Given the description of an element on the screen output the (x, y) to click on. 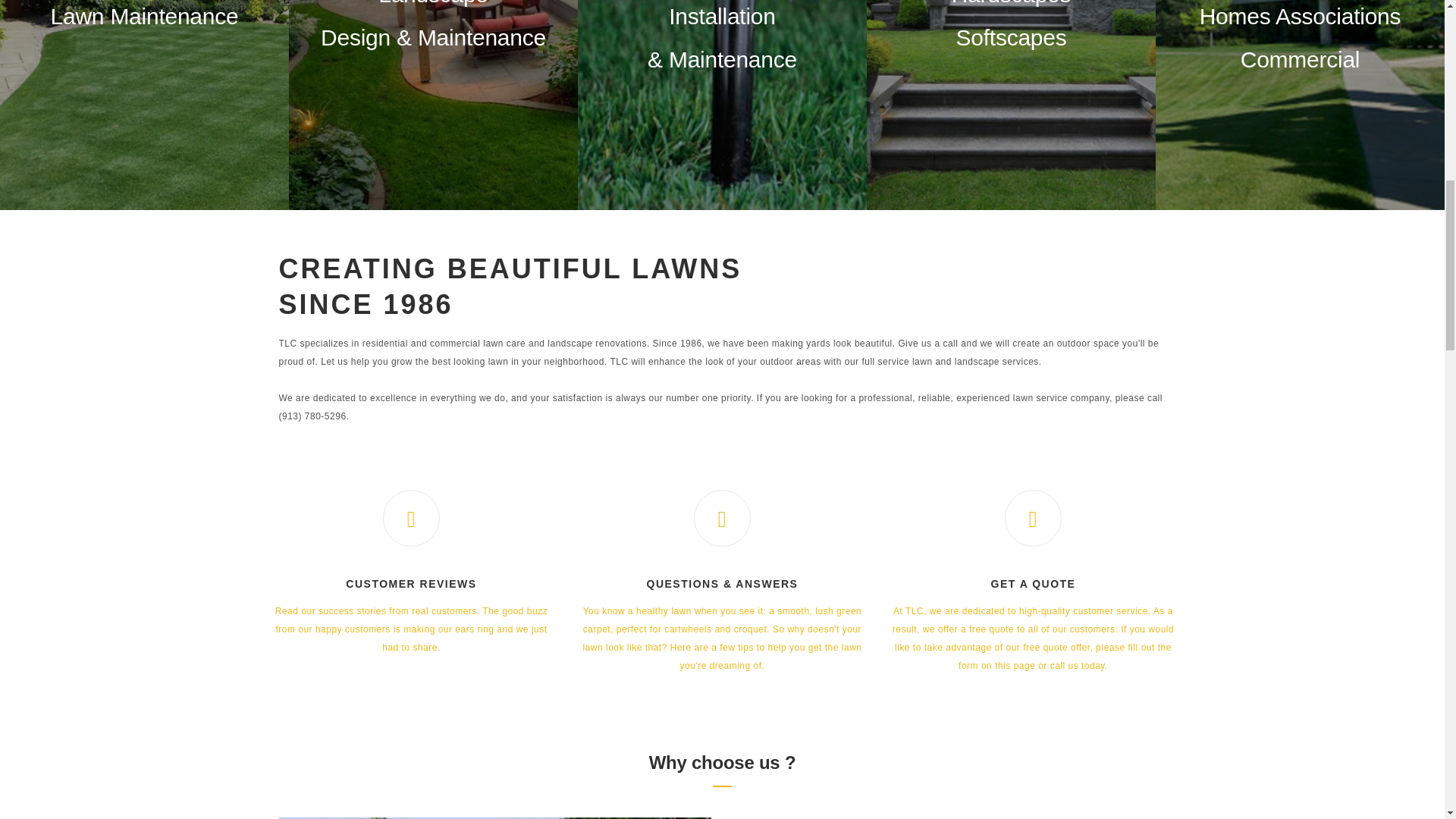
GET A QUOTE (1032, 583)
CUSTOMER REVIEWS (411, 583)
